Given the description of an element on the screen output the (x, y) to click on. 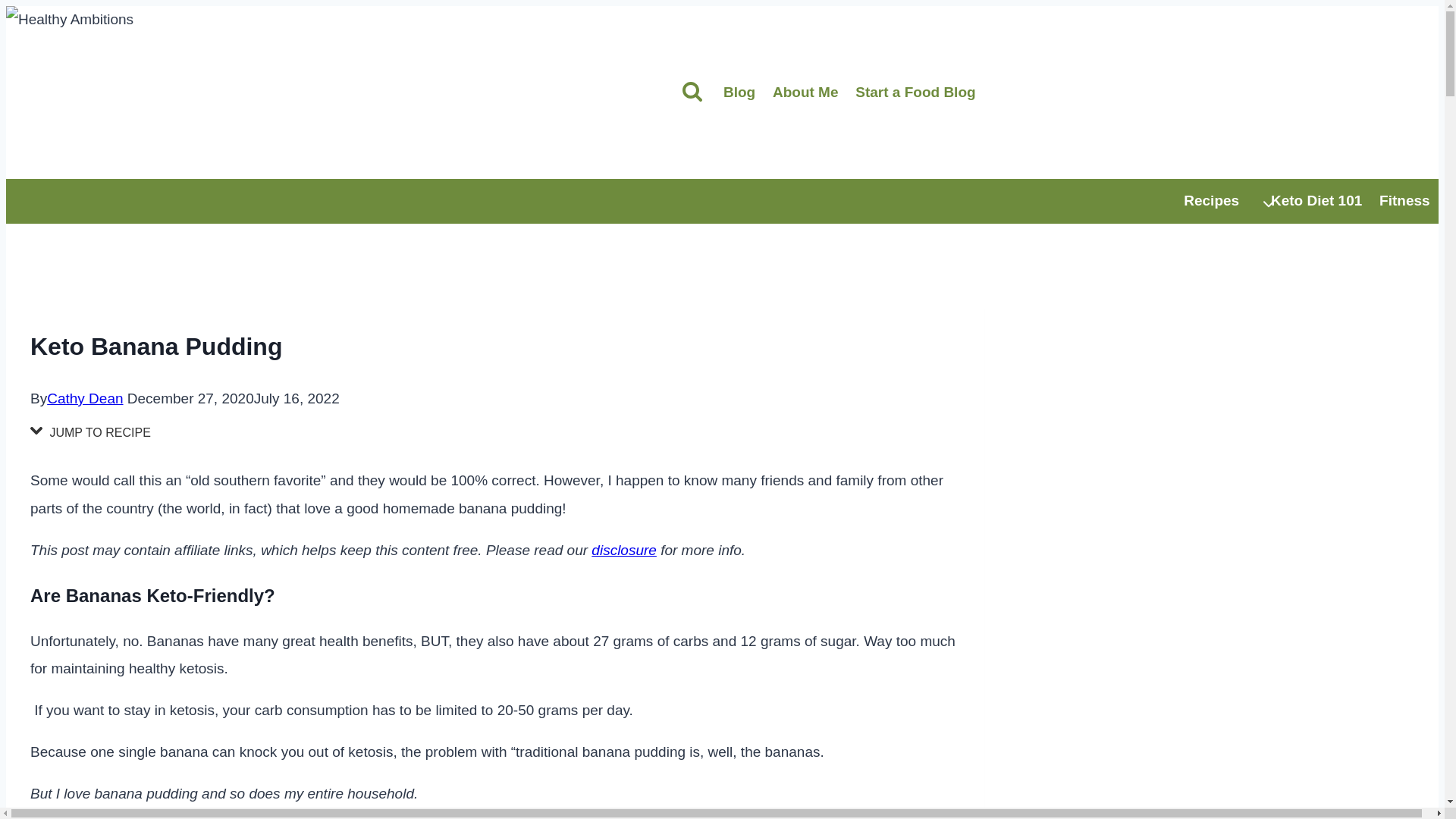
Cathy Dean (1226, 201)
Blog (84, 398)
Expand (747, 92)
About Me (1268, 204)
Keto Diet 101 (814, 92)
disclosure (1325, 201)
Skip to content (623, 549)
Search (924, 92)
Search (691, 92)
JUMP TO RECIPE (691, 90)
Skip to content (94, 432)
